Given the description of an element on the screen output the (x, y) to click on. 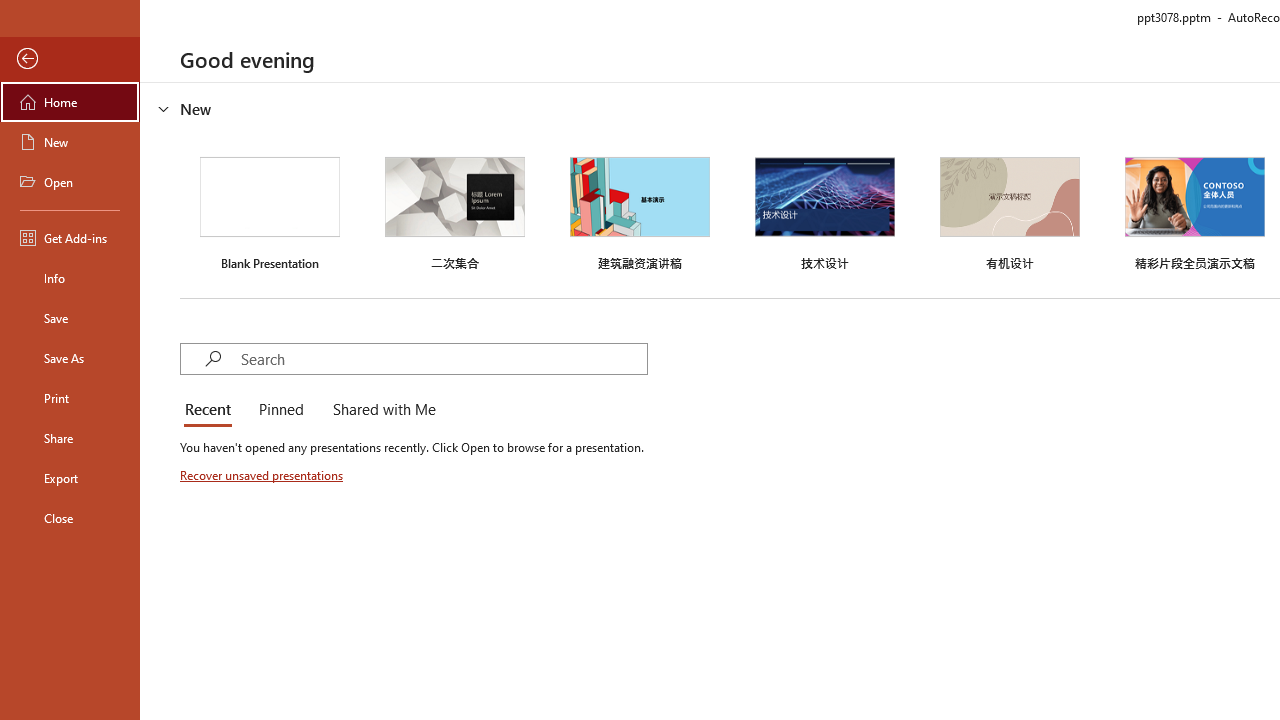
wangyian_dsw - DSW (42, 321)
Explorer actions (390, 322)
Class: menubar compact overflow-menu-only (135, 322)
Search (Ctrl+Shift+F) (135, 466)
Source Control (Ctrl+Shift+G) (135, 544)
Microsoft security help and learning (42, 613)
